Given the description of an element on the screen output the (x, y) to click on. 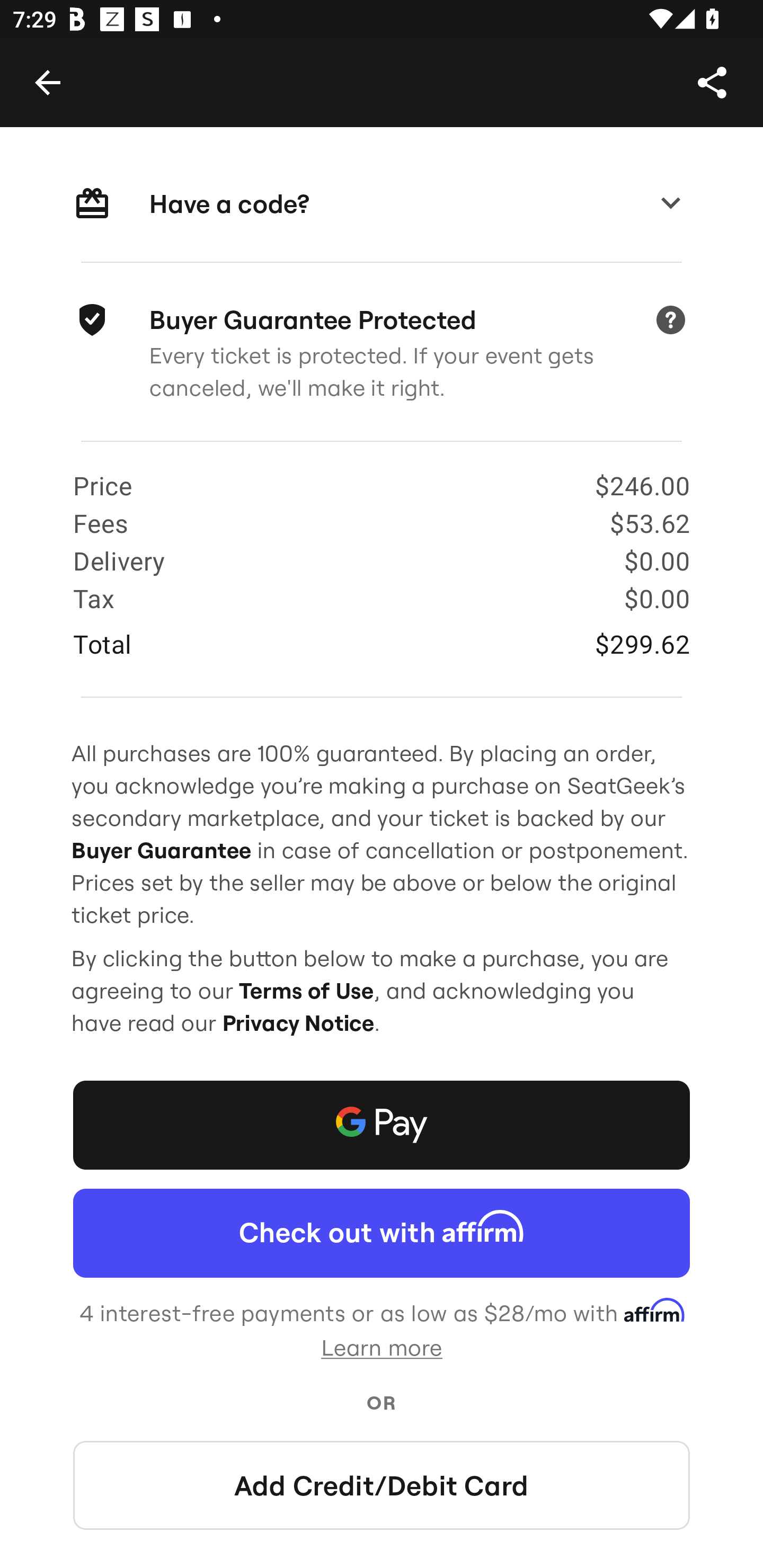
Expand image to fullscreen (57, 69)
Share (711, 81)
Have a code? Expand to show options (381, 204)
Buy with Google Pay (381, 1124)
Check out with Affirm Affirm (381, 1232)
Add Credit/Debit Card (381, 1485)
